Given the description of an element on the screen output the (x, y) to click on. 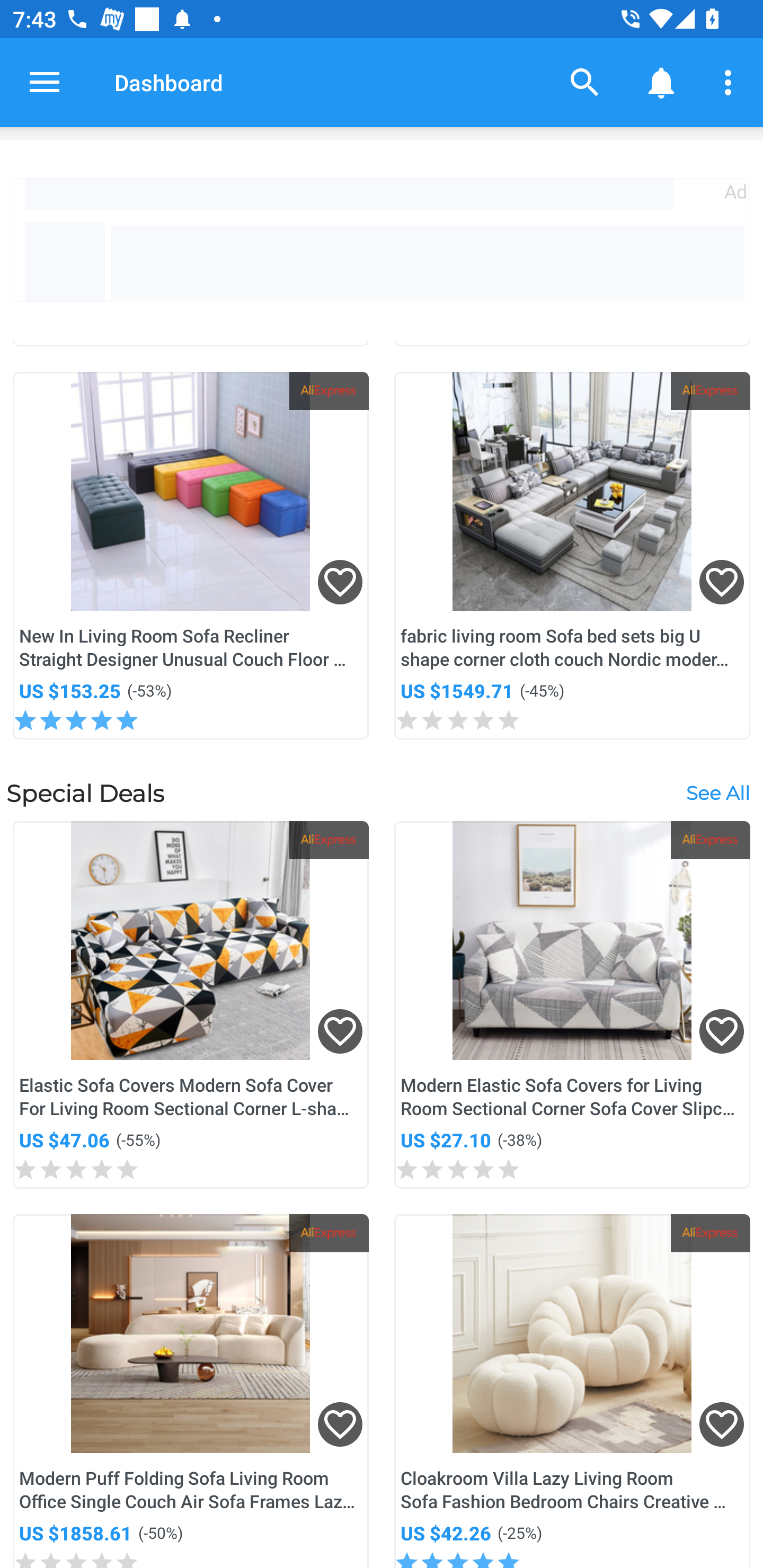
Open navigation drawer (44, 82)
Search (585, 81)
More options (731, 81)
See All (717, 792)
